Given the description of an element on the screen output the (x, y) to click on. 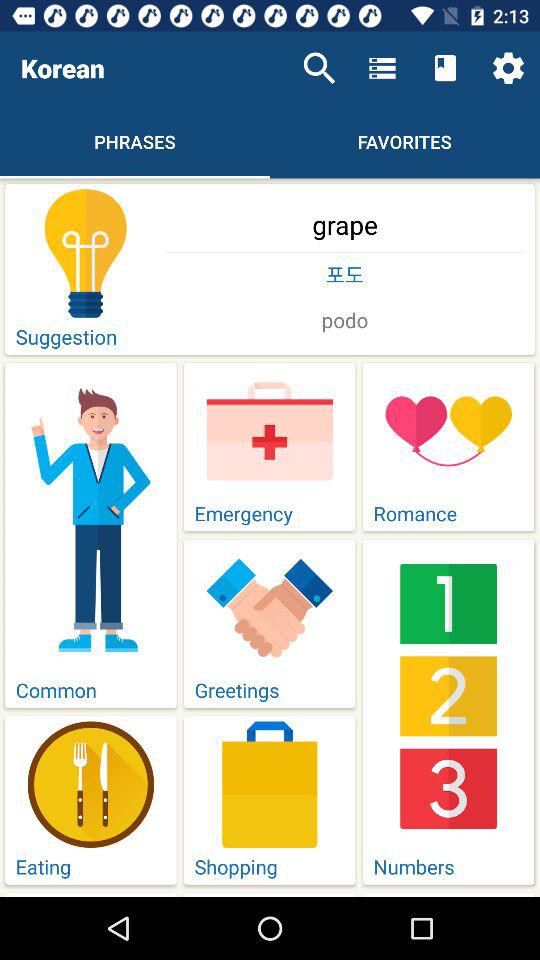
select icon above the grape icon (319, 67)
